Given the description of an element on the screen output the (x, y) to click on. 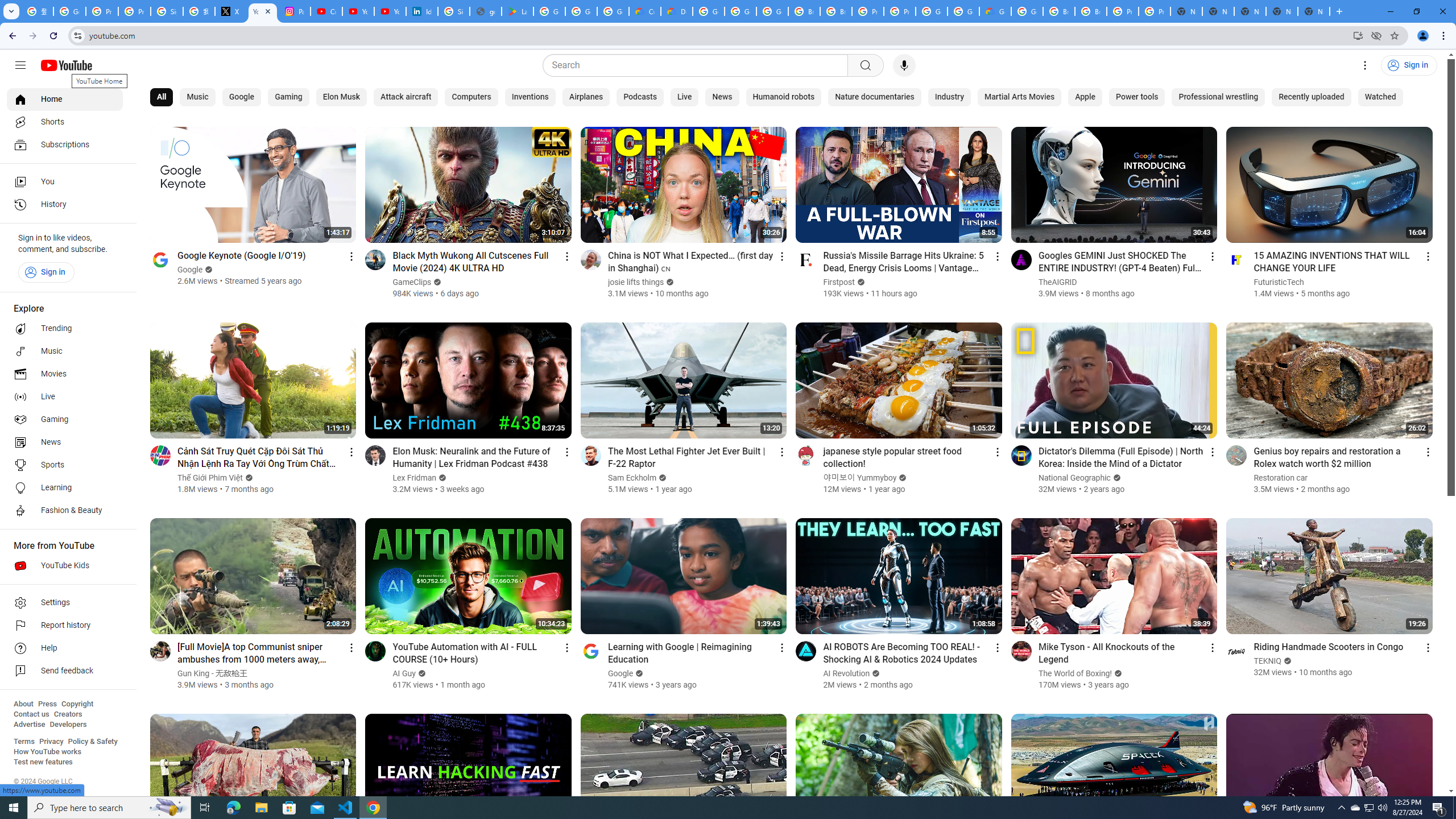
Trending (64, 328)
